Given the description of an element on the screen output the (x, y) to click on. 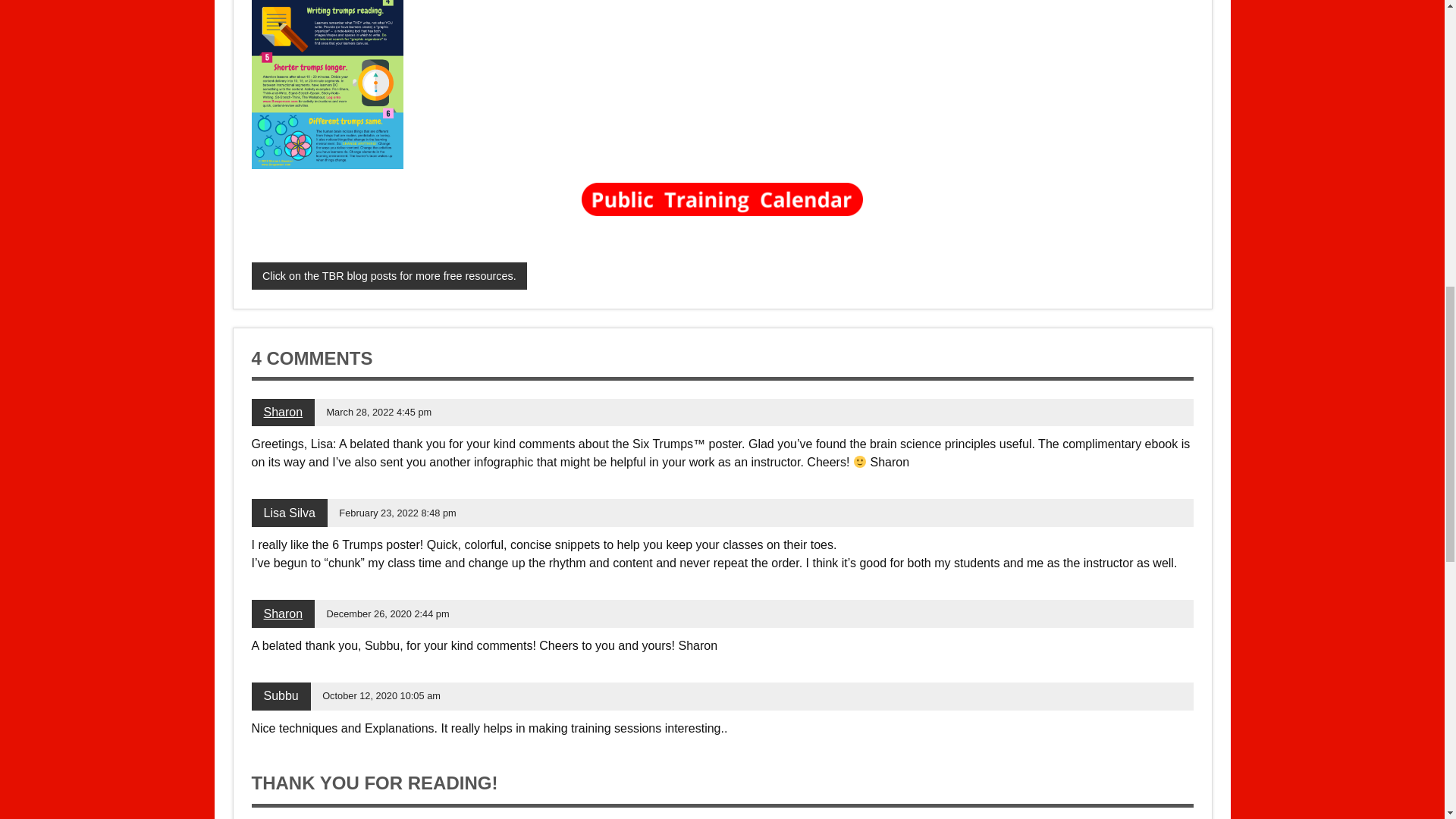
Sharon (282, 613)
February 23, 2022 8:48 pm (397, 512)
October 12, 2020 10:05 am (381, 695)
December 26, 2020 2:44 pm (387, 613)
Sharon (282, 411)
Click on the TBR blog posts for more free resources. (389, 275)
March 28, 2022 4:45 pm (378, 411)
